Given the description of an element on the screen output the (x, y) to click on. 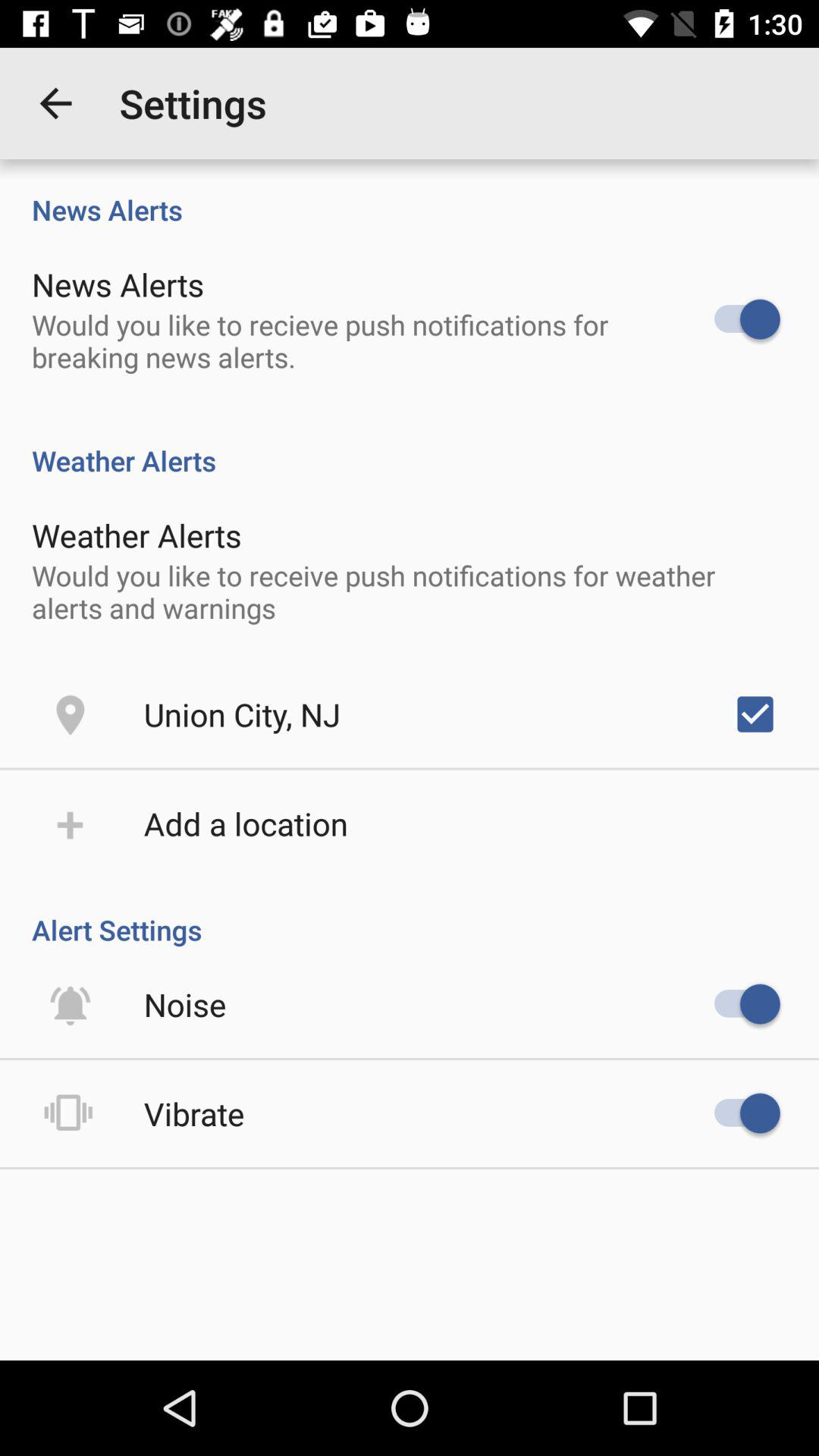
tap the item next to the union city, nj item (755, 714)
